Given the description of an element on the screen output the (x, y) to click on. 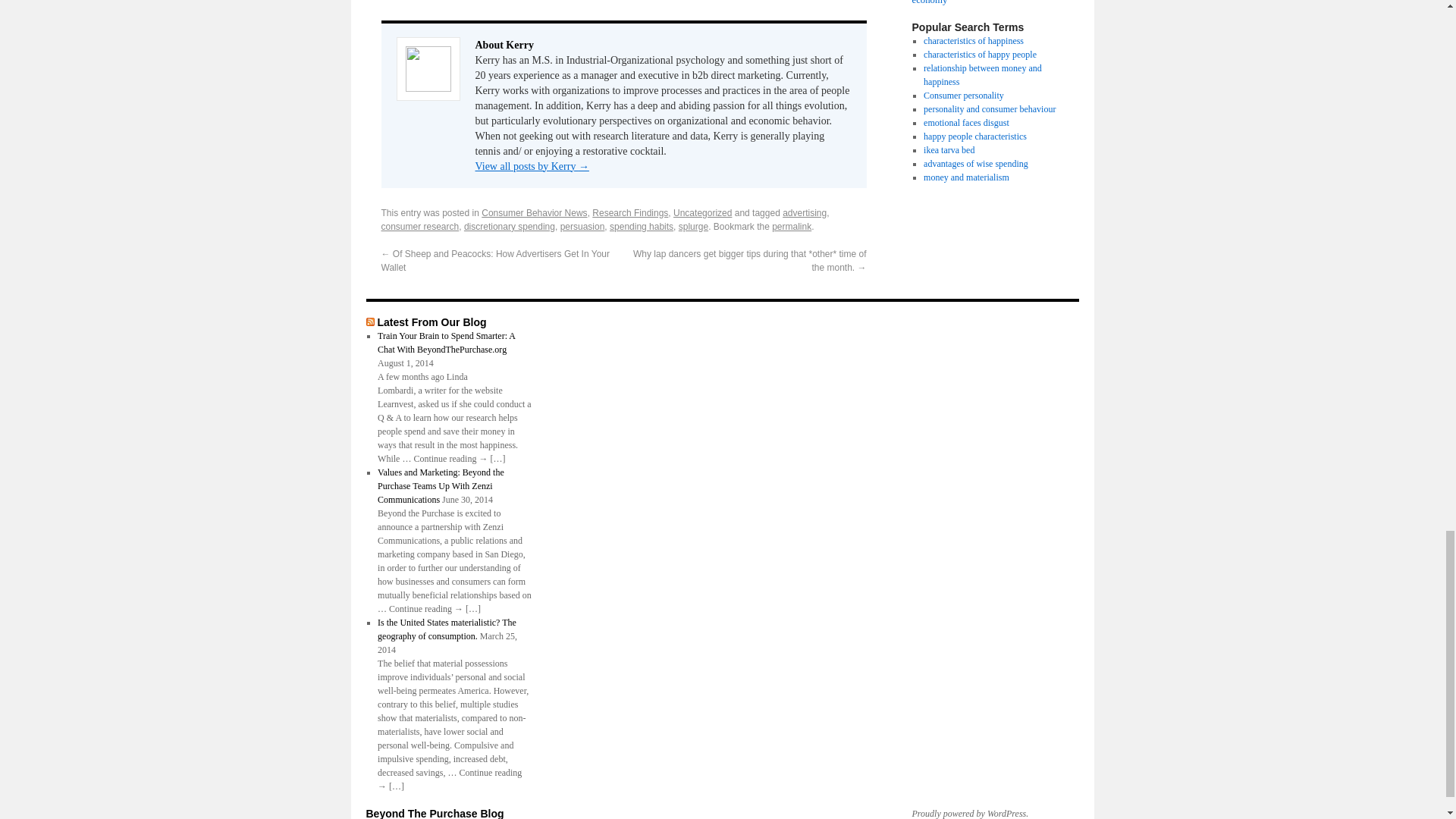
Consumer Behavior News (533, 213)
permalink (790, 226)
advertising (805, 213)
Uncategorized (702, 213)
consumer research (419, 226)
discretionary spending (509, 226)
persuasion (582, 226)
Research Findings (630, 213)
splurge (692, 226)
spending habits (641, 226)
